Given the description of an element on the screen output the (x, y) to click on. 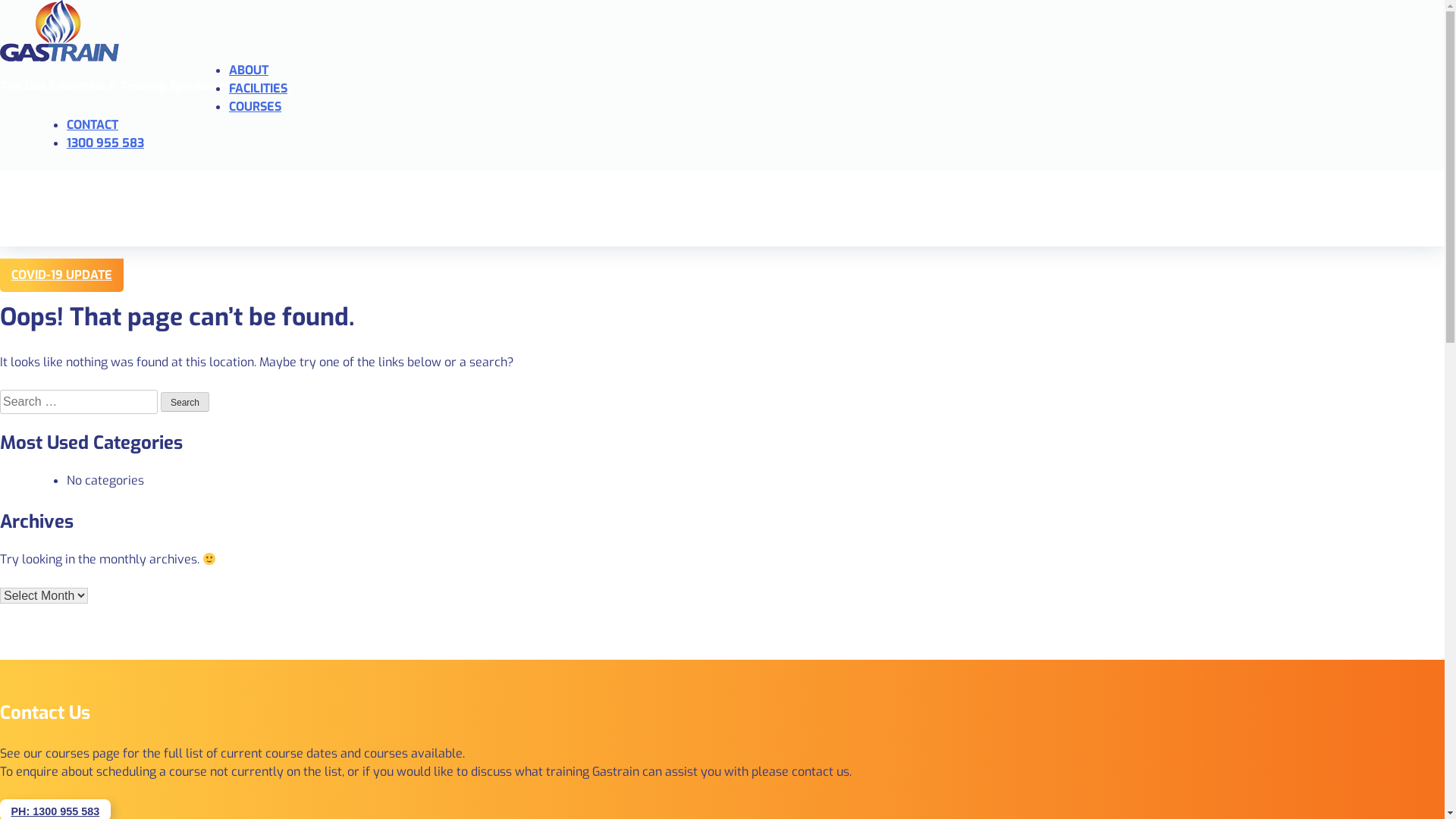
The Gas Education & Training Specialists Element type: text (722, 30)
FACILITIES Element type: text (258, 88)
1300 955 583 Element type: text (105, 142)
ABOUT Element type: text (248, 70)
CONTACT Element type: text (92, 124)
COURSES Element type: text (255, 106)
PH: 1300 955 583 Element type: text (54, 811)
Search Element type: text (184, 401)
COVID-19 UPDATE Element type: text (61, 274)
